Given the description of an element on the screen output the (x, y) to click on. 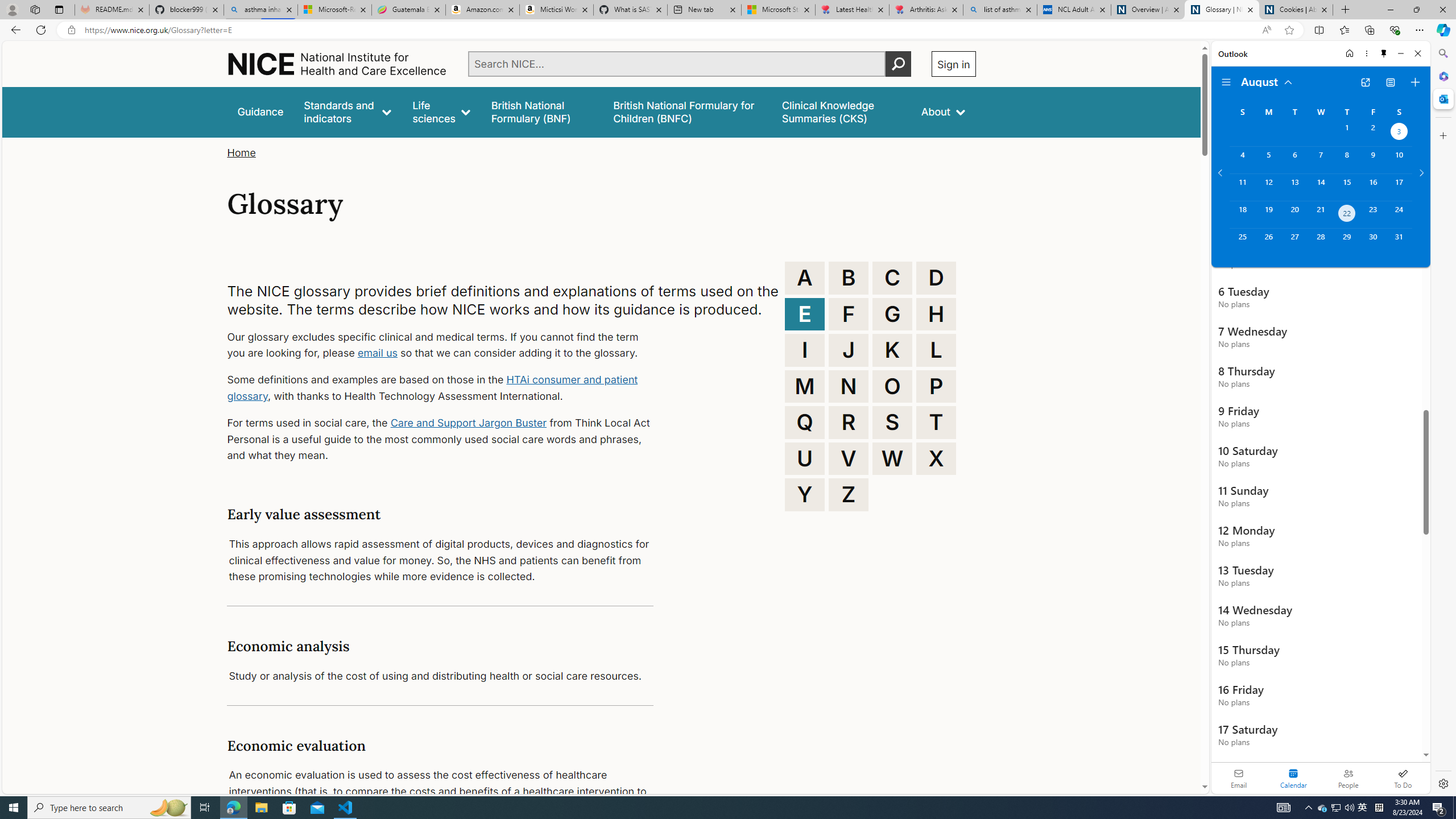
Friday, August 2, 2024.  (1372, 132)
Saturday, August 24, 2024.  (1399, 214)
P (935, 385)
N (848, 385)
About (942, 111)
E (804, 313)
H (935, 313)
Saturday, August 17, 2024.  (1399, 186)
Thursday, August 1, 2024.  (1346, 132)
S (892, 422)
S (892, 422)
NCL Adult Asthma Inhaler Choice Guideline (1073, 9)
asthma inhaler - Search (260, 9)
